Given the description of an element on the screen output the (x, y) to click on. 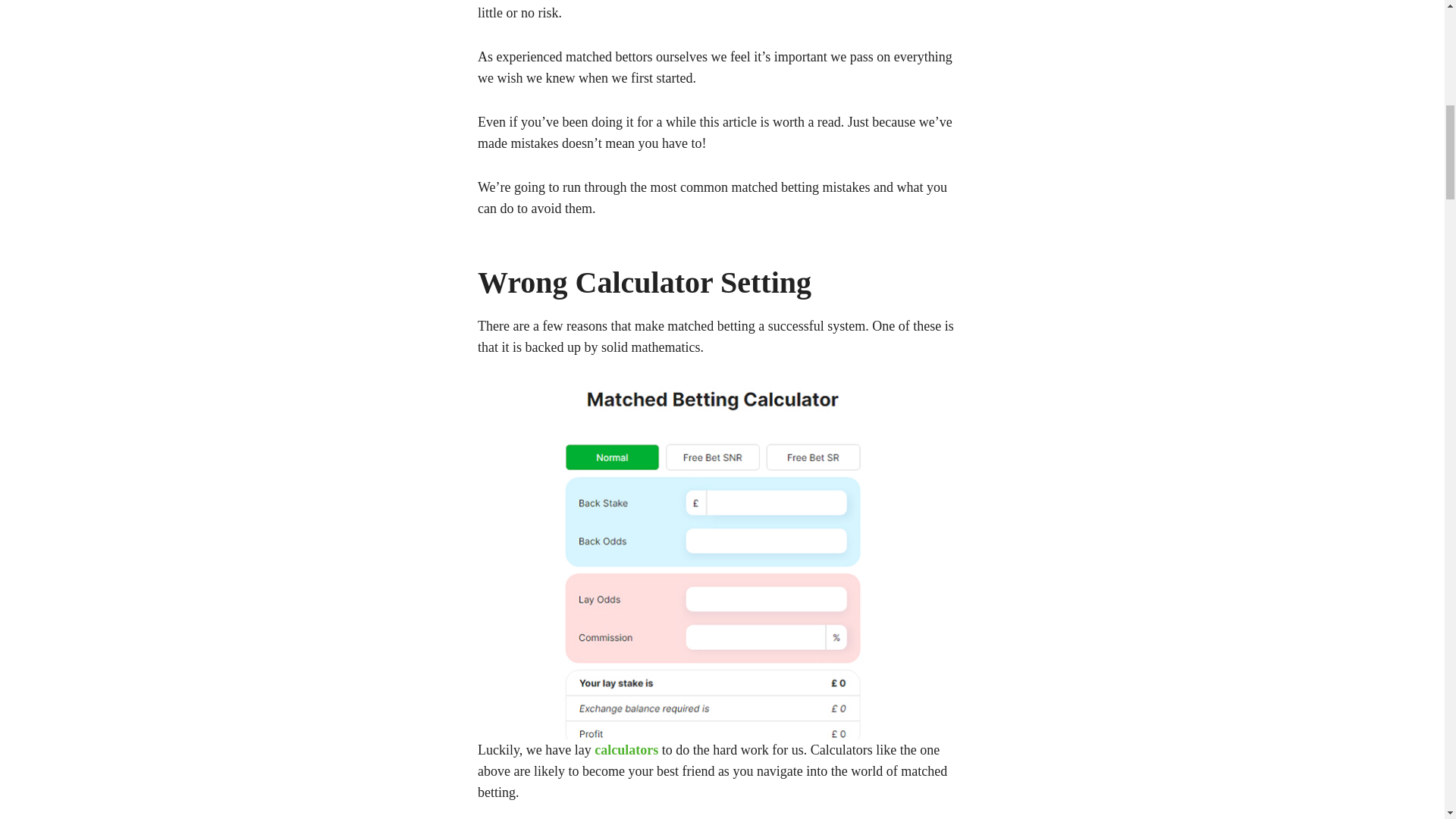
calculators (626, 749)
